Given the description of an element on the screen output the (x, y) to click on. 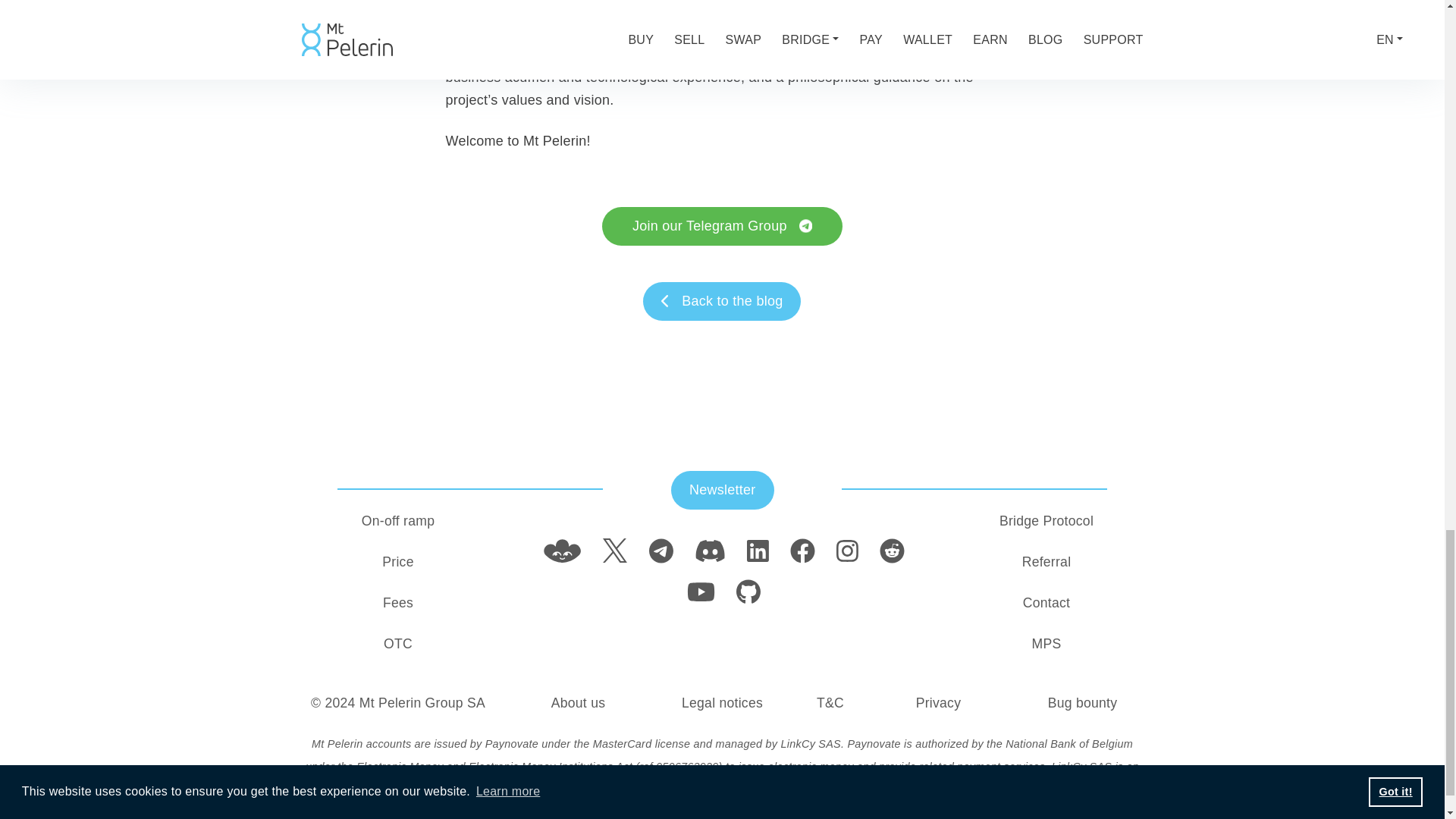
Back to the blog (721, 301)
Fees (397, 602)
OTC (398, 643)
Join our Telegram Group (722, 226)
Price (397, 561)
On-off ramp (397, 520)
Bridge Protocol (1045, 520)
Newsletter (722, 489)
